Given the description of an element on the screen output the (x, y) to click on. 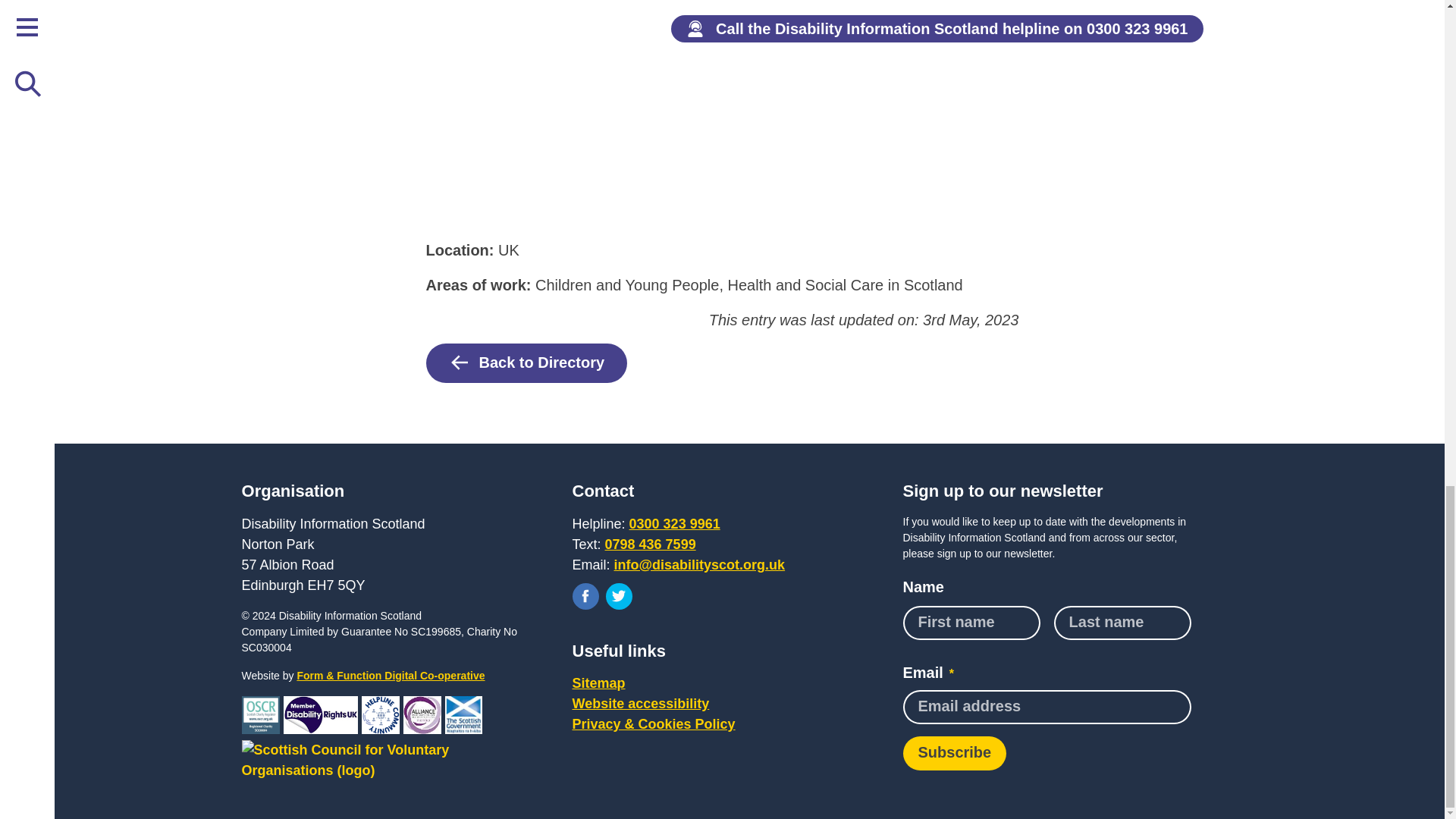
Alliance Scotland Member (422, 714)
Subscribe (954, 753)
Helplines Partnership Member (379, 714)
Find us on Twitter (618, 596)
Member Disability Rights UK (320, 714)
Registered with Scottish Charity Regulator (260, 714)
Find us on Facebook (585, 596)
The Scottish Government (463, 714)
